Given the description of an element on the screen output the (x, y) to click on. 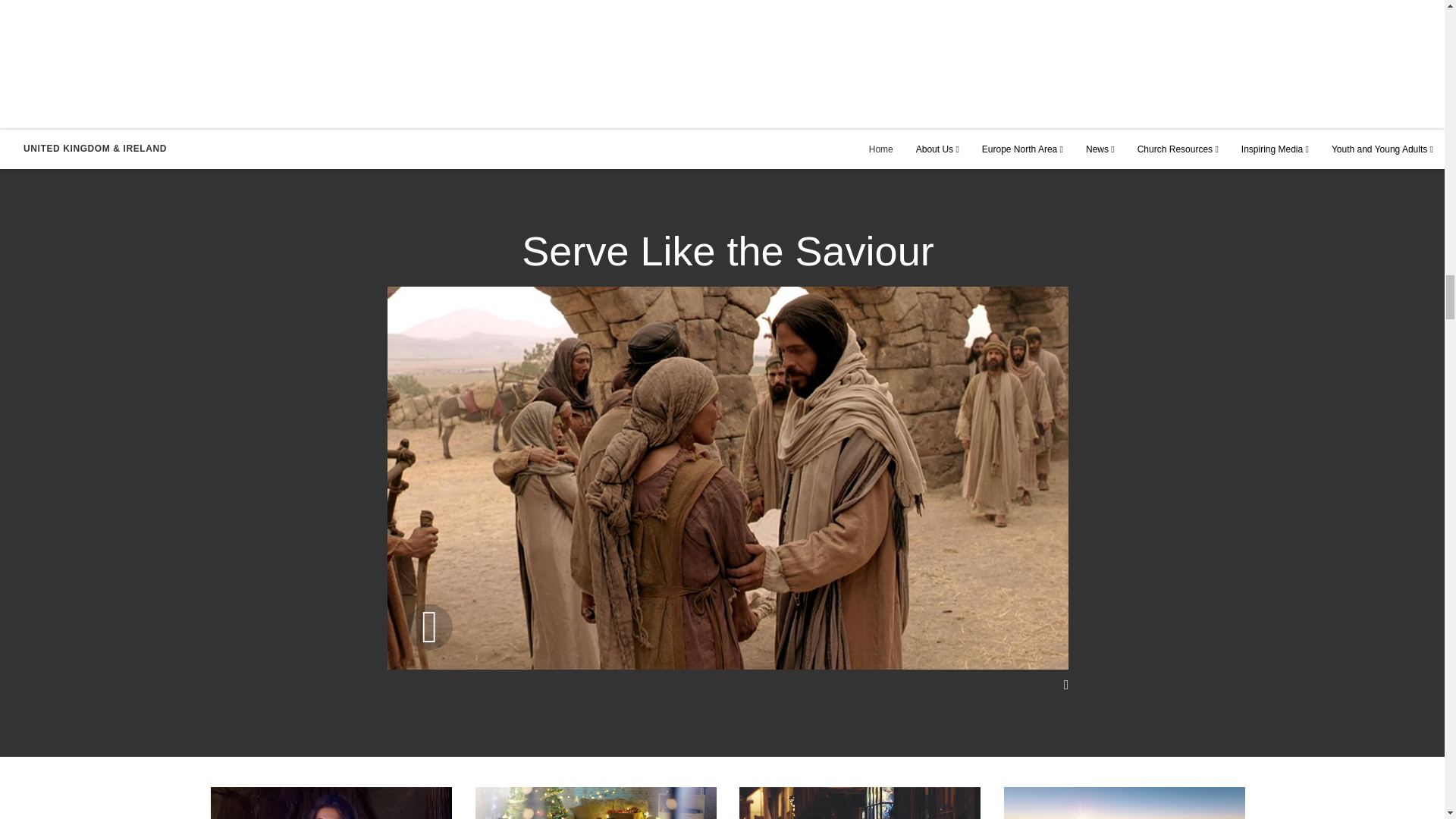
Home (881, 153)
